Given the description of an element on the screen output the (x, y) to click on. 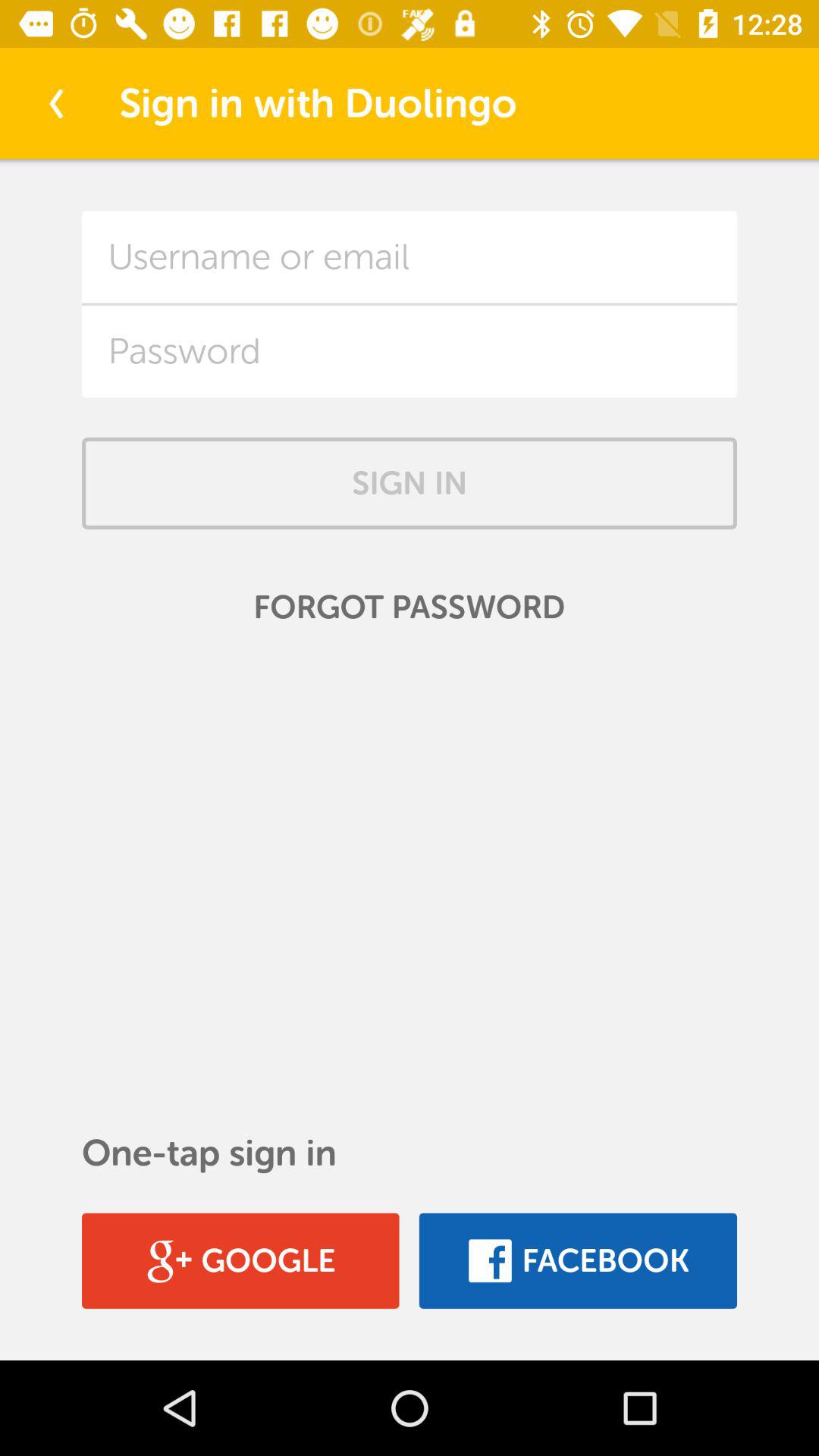
turn off the item at the top left corner (55, 103)
